Given the description of an element on the screen output the (x, y) to click on. 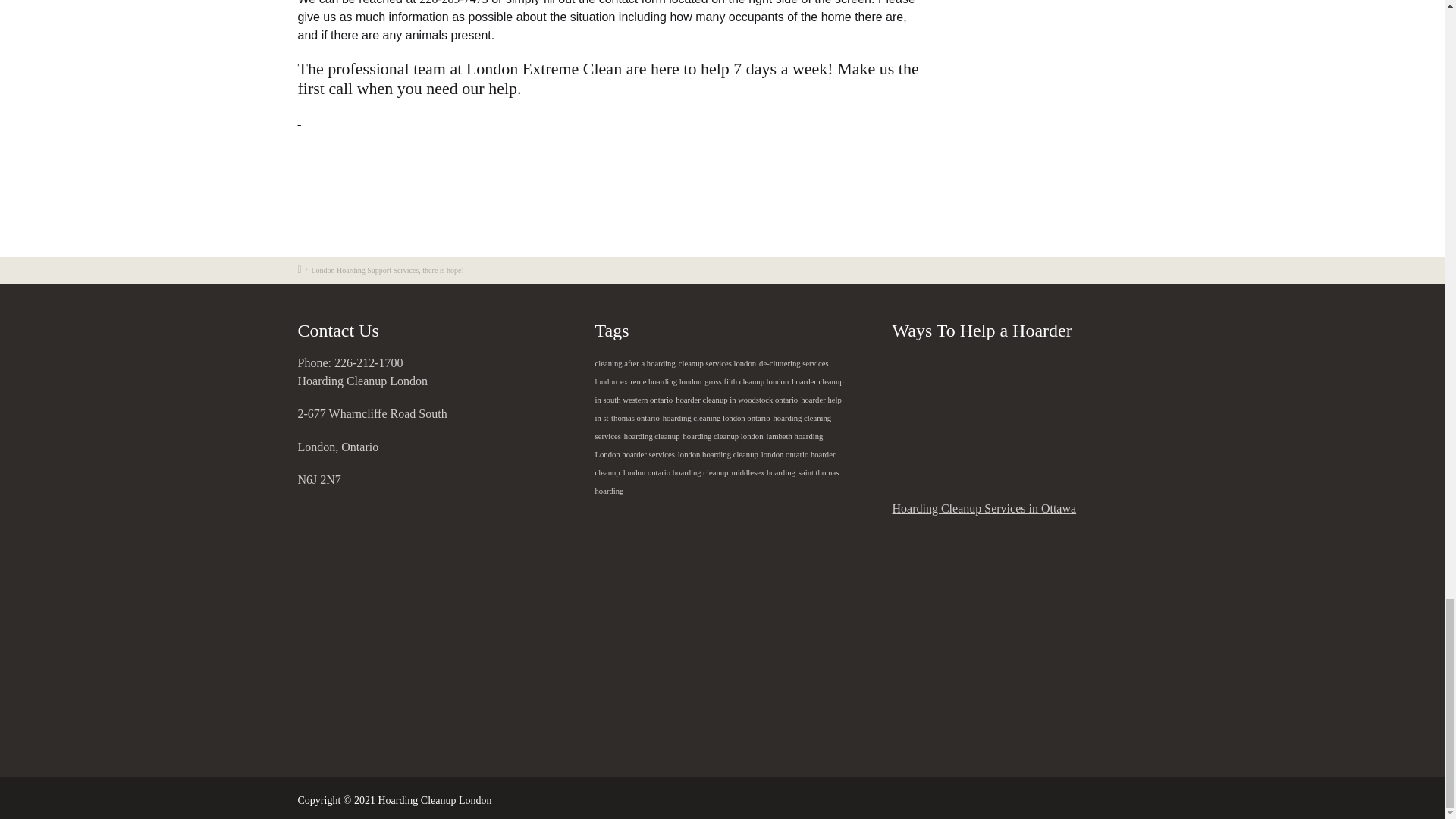
de-cluttering services london (711, 372)
hoarding cleanup london (722, 436)
hoarder help in st-thomas ontario (717, 408)
middlesex hoarding (762, 472)
hoarding cleanup (651, 436)
saint thomas hoarding (716, 481)
hoarder cleanup in south western ontario (718, 390)
London hoarder services (634, 454)
cleanup services london (716, 363)
hoarding cleaning services (712, 427)
extreme hoarding london (660, 381)
london hoarding cleanup (718, 454)
london ontario hoarder cleanup (714, 463)
gross filth cleanup london (746, 381)
lambeth hoarding (793, 436)
